Given the description of an element on the screen output the (x, y) to click on. 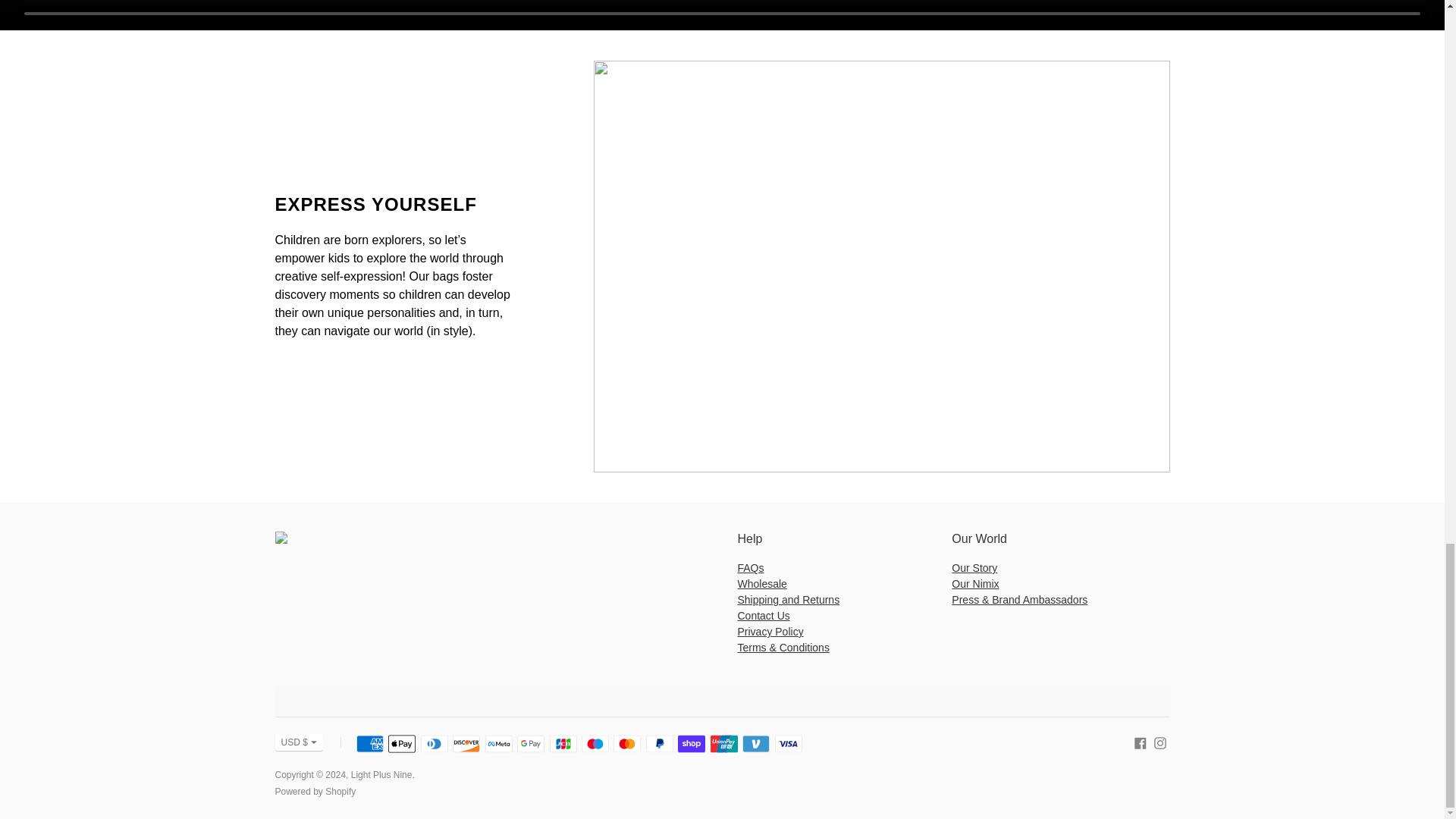
Light Plus Nine on Instagram (1160, 741)
American Express (370, 743)
Light Plus Nine on Facebook (1140, 741)
Diners Club (434, 743)
Mastercard (626, 743)
Meta Pay (498, 743)
Maestro (594, 743)
JCB (563, 743)
Discover (466, 743)
PayPal (659, 743)
